Given the description of an element on the screen output the (x, y) to click on. 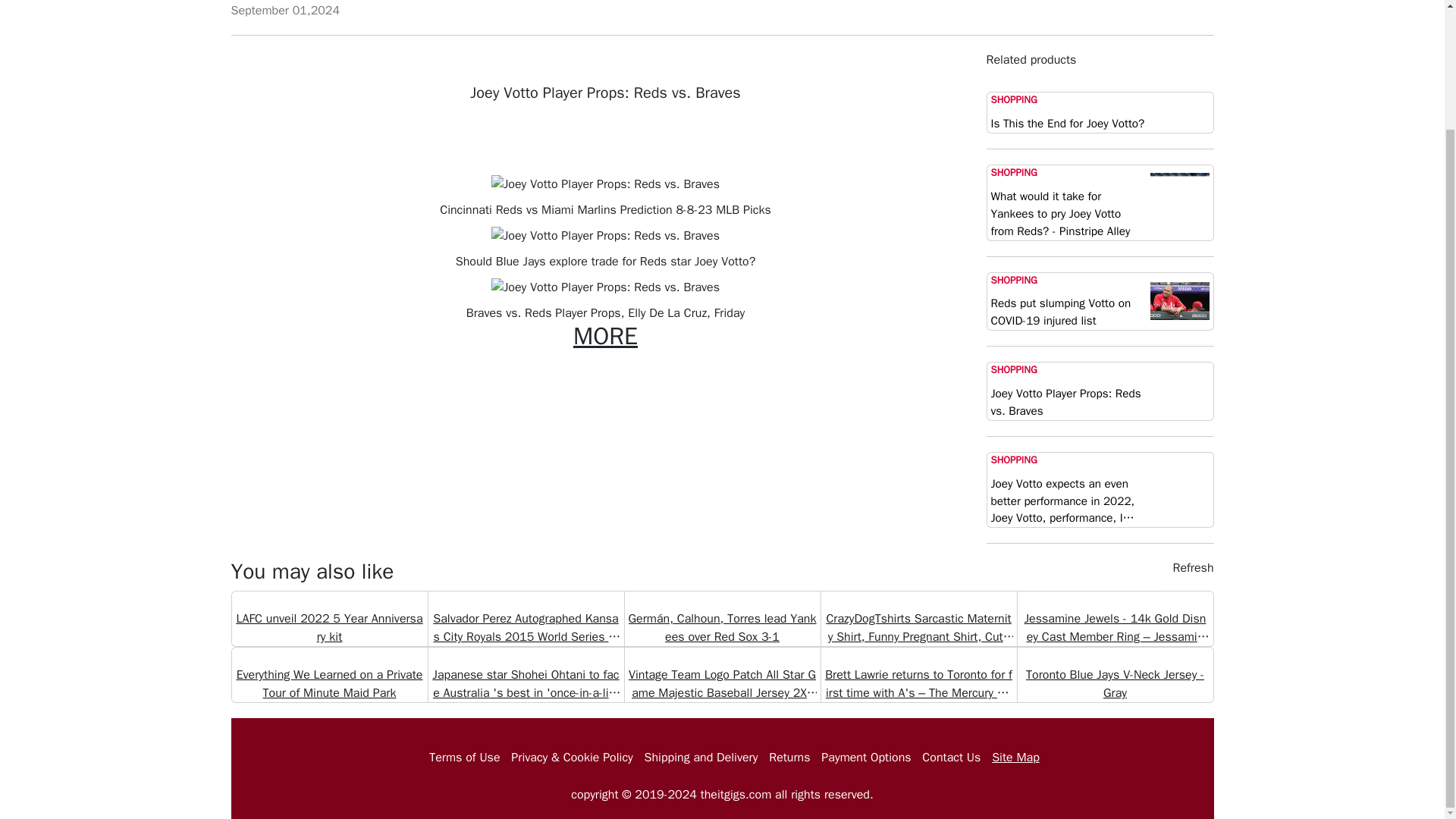
Reds put slumping Votto on COVID-19 injured list (1068, 312)
Site Map (1015, 757)
Toronto Blue Jays V-Neck Jersey - Gray (1114, 674)
Everything We Learned on a Private Tour of Minute Maid Park (328, 683)
Everything We Learned on a Private Tour of Minute Maid Park (328, 674)
LAFC unveil 2022 5 Year Anniversary kit (328, 618)
